Given the description of an element on the screen output the (x, y) to click on. 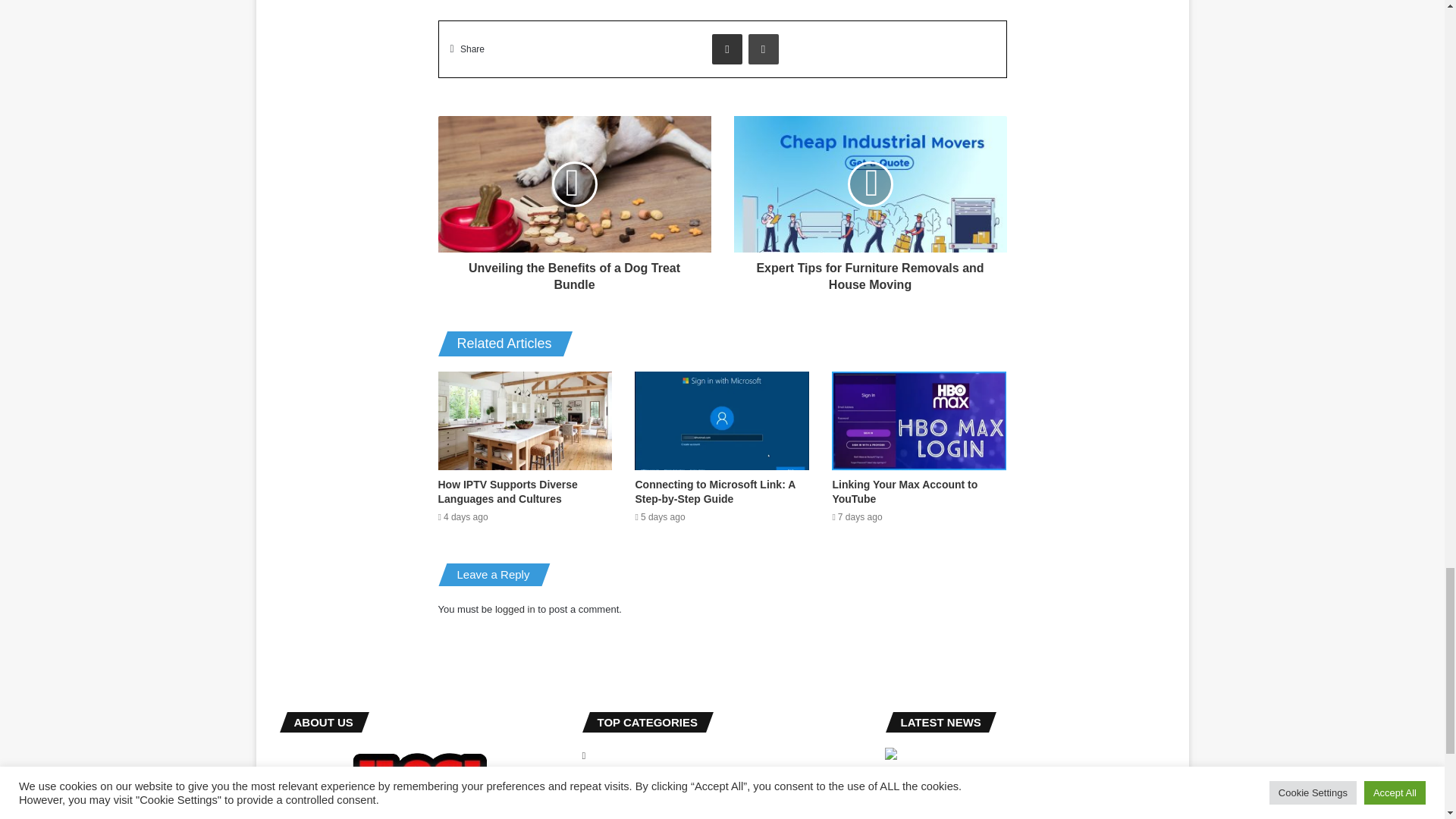
Share via Email (726, 49)
Print (763, 49)
Print (763, 49)
Unveiling the Benefits of a Dog Treat Bundle (574, 272)
How IPTV Supports Diverse Languages and Cultures (508, 491)
Expert Tips for Furniture Removals and House Moving (870, 272)
Connecting to Microsoft Link: A Step-by-Step Guide (714, 491)
Share via Email (726, 49)
